Given the description of an element on the screen output the (x, y) to click on. 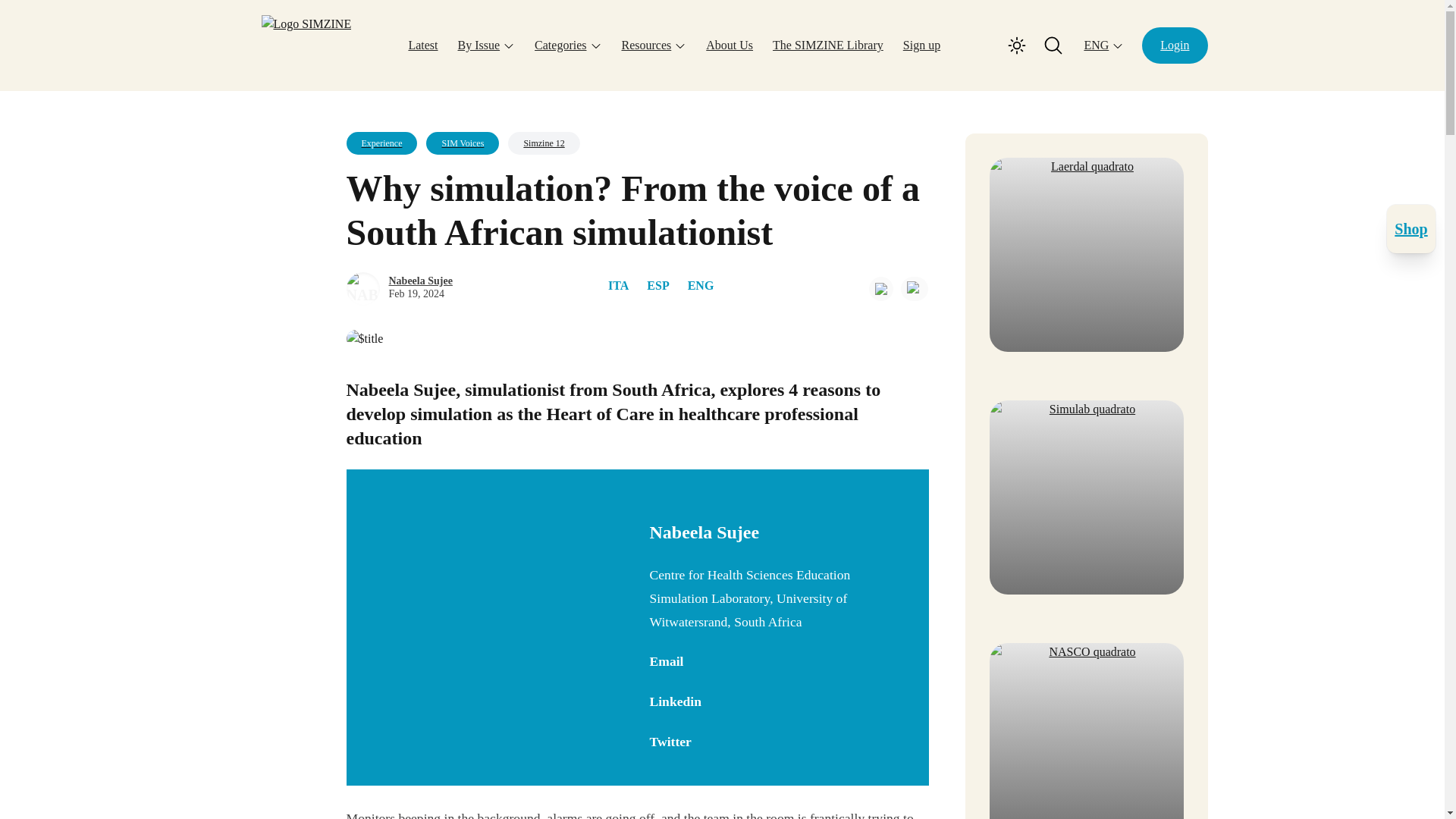
Shop (1411, 228)
